Given the description of an element on the screen output the (x, y) to click on. 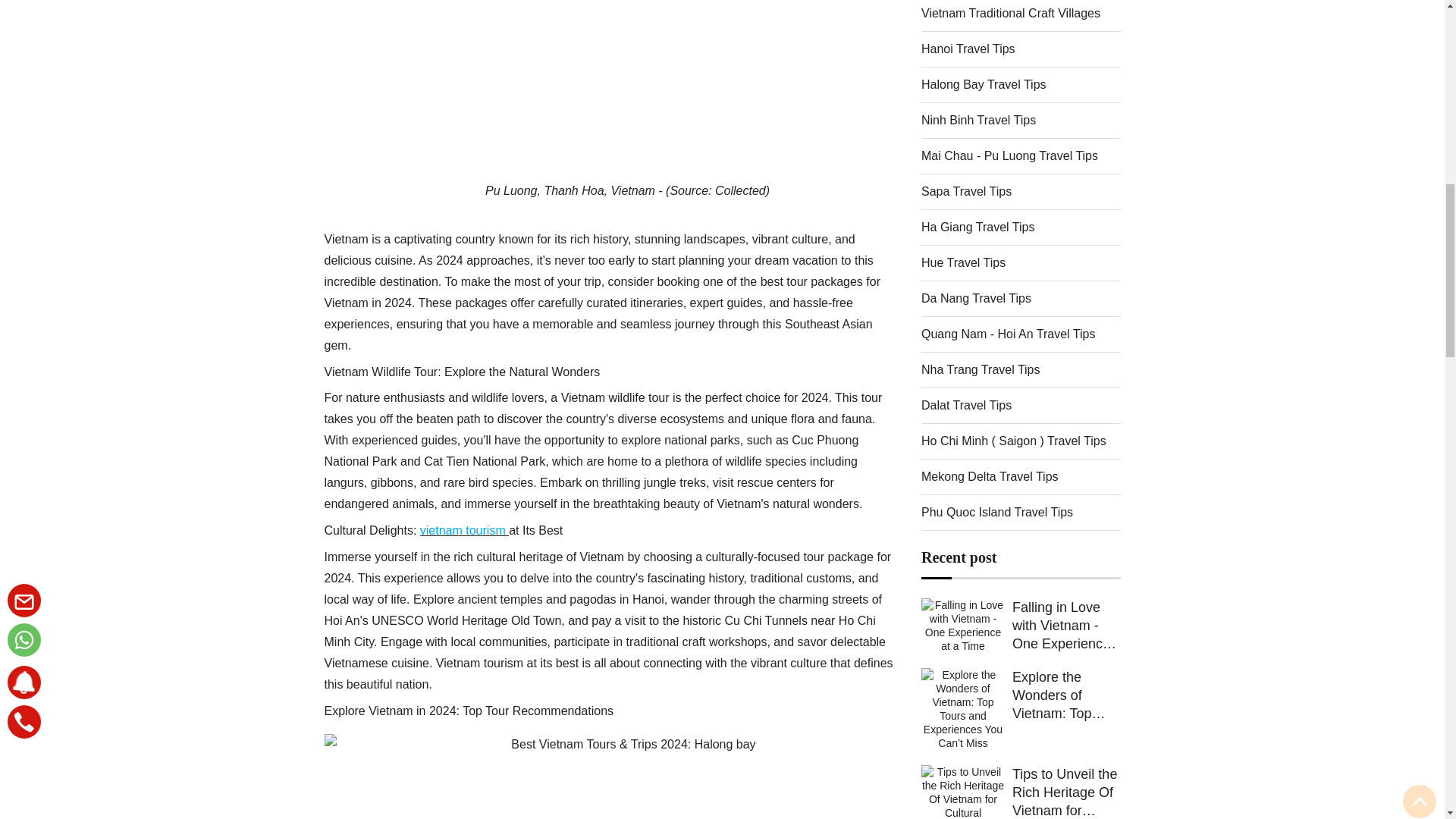
Falling in Love with Vietnam - One Experience at a Time (962, 645)
